Given the description of an element on the screen output the (x, y) to click on. 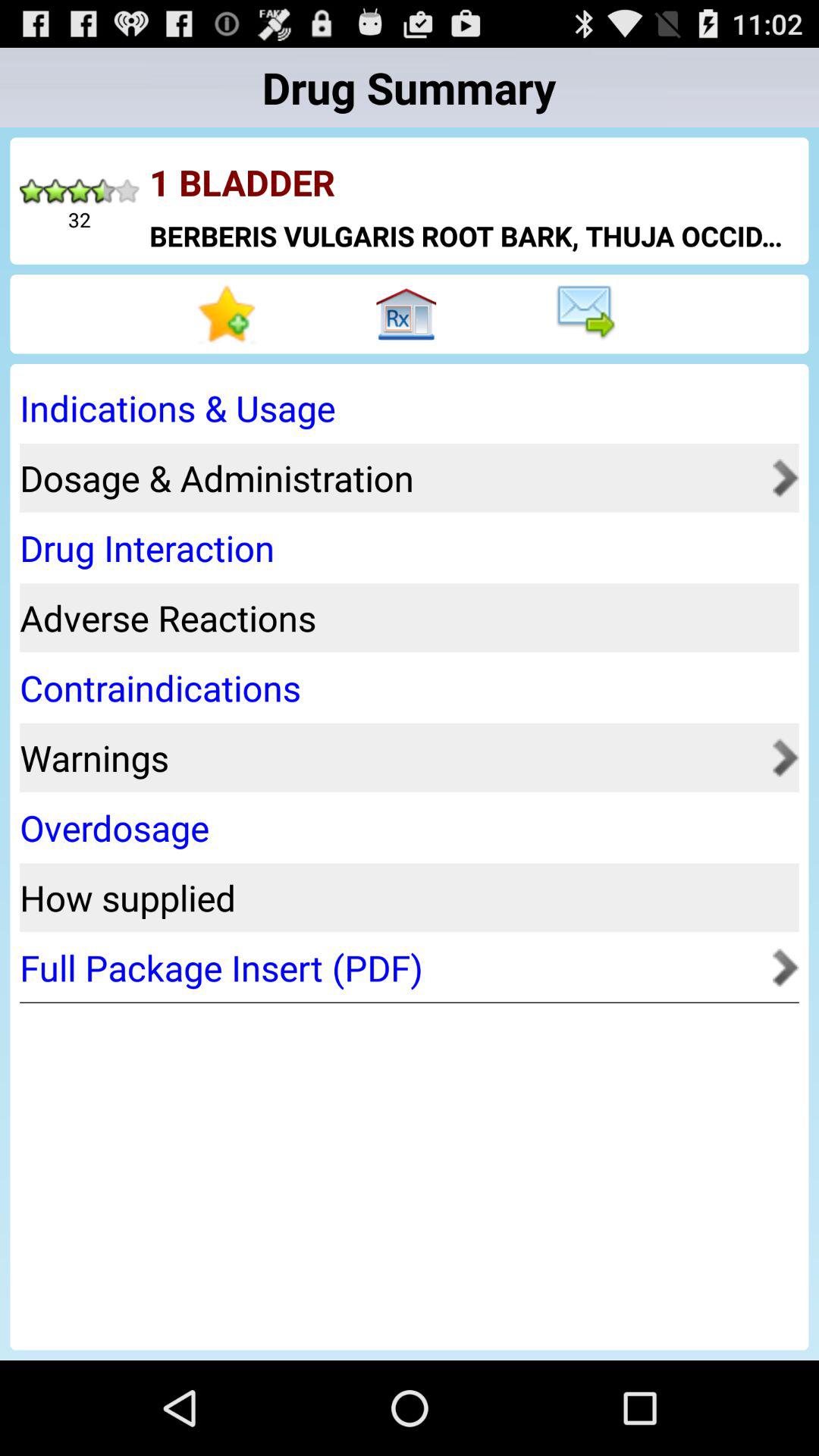
swipe until the overdosage item (403, 827)
